Given the description of an element on the screen output the (x, y) to click on. 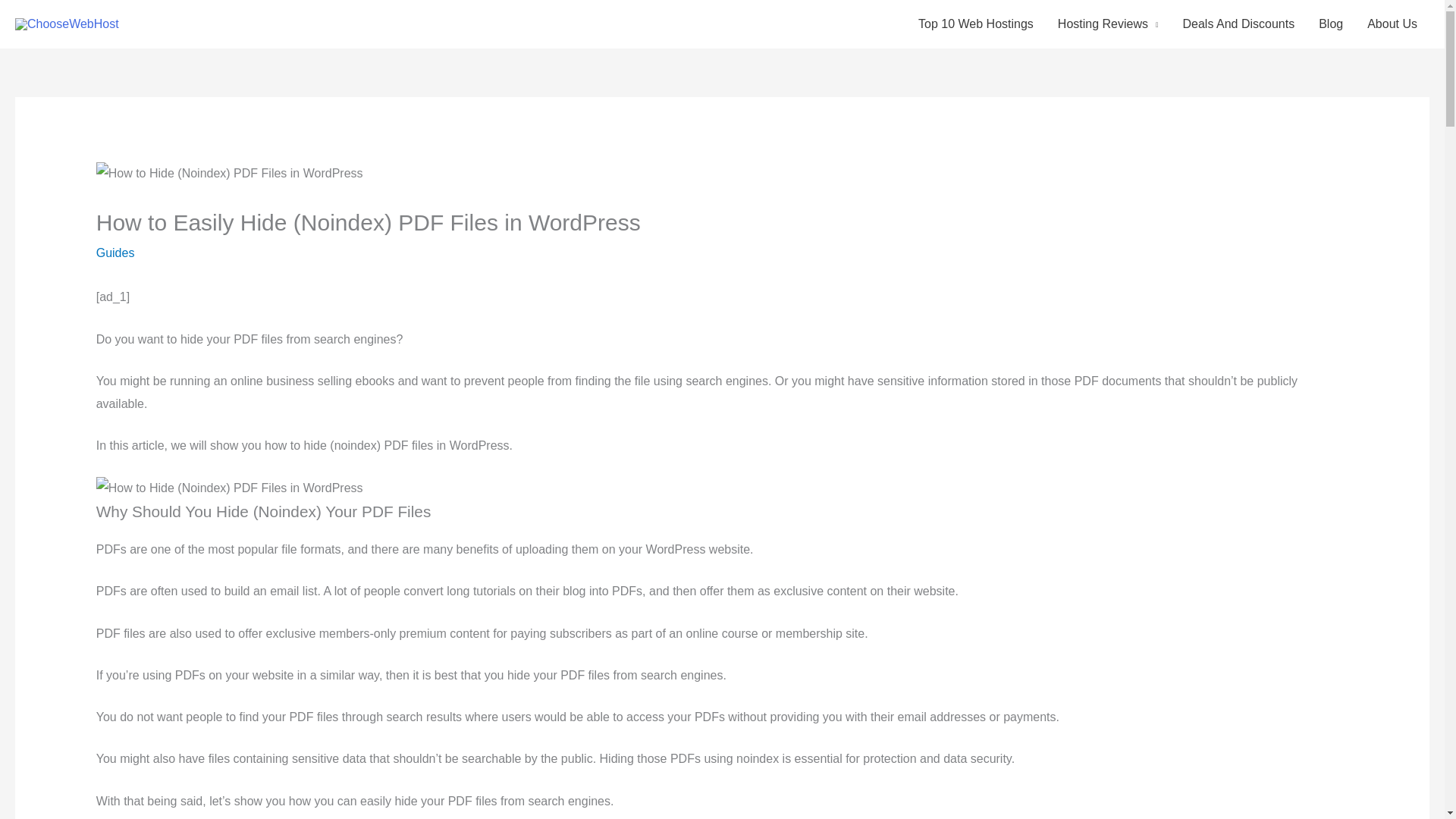
Deals And Discounts (1238, 24)
Blog (1330, 24)
Guides (115, 252)
About Us (1392, 24)
Top 10 Web Hostings (975, 24)
Hosting Reviews (1107, 24)
